Given the description of an element on the screen output the (x, y) to click on. 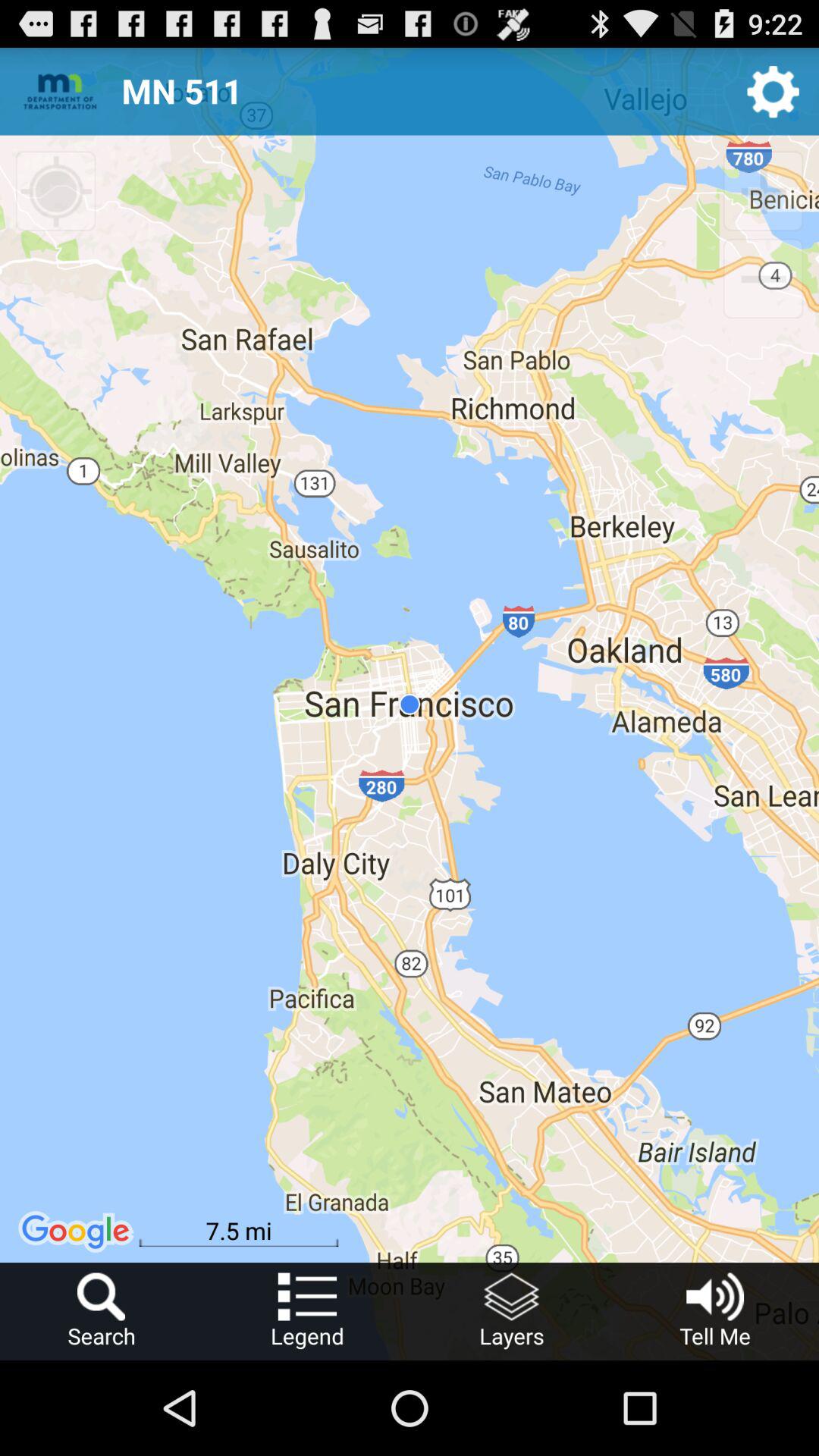
open the app to the right of mn 511 icon (773, 91)
